Given the description of an element on the screen output the (x, y) to click on. 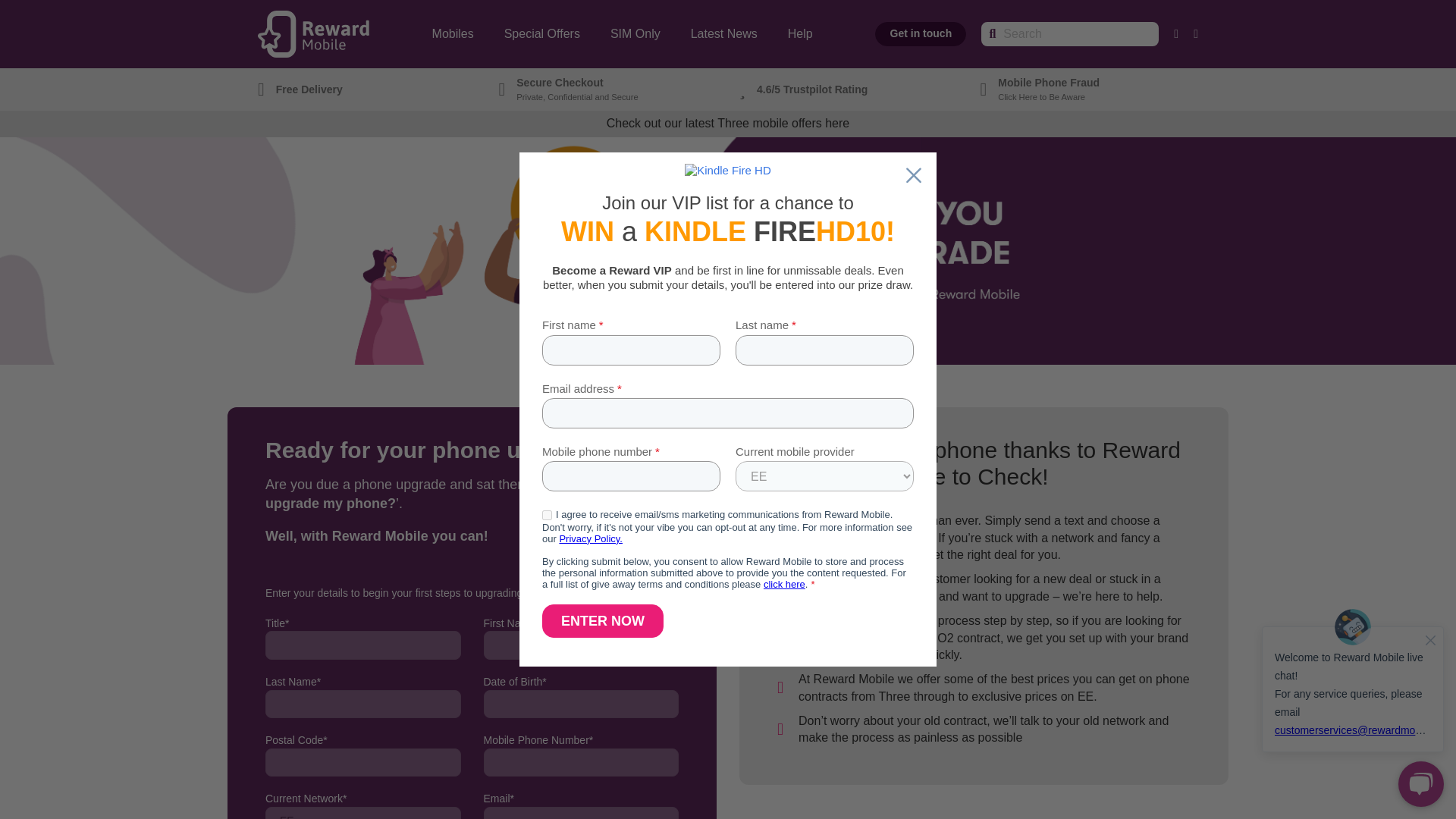
Submit (1135, 264)
SIM Only (635, 33)
Latest News (724, 33)
Mobiles (452, 33)
Chat Widget (1352, 707)
Special Offers (542, 33)
